Given the description of an element on the screen output the (x, y) to click on. 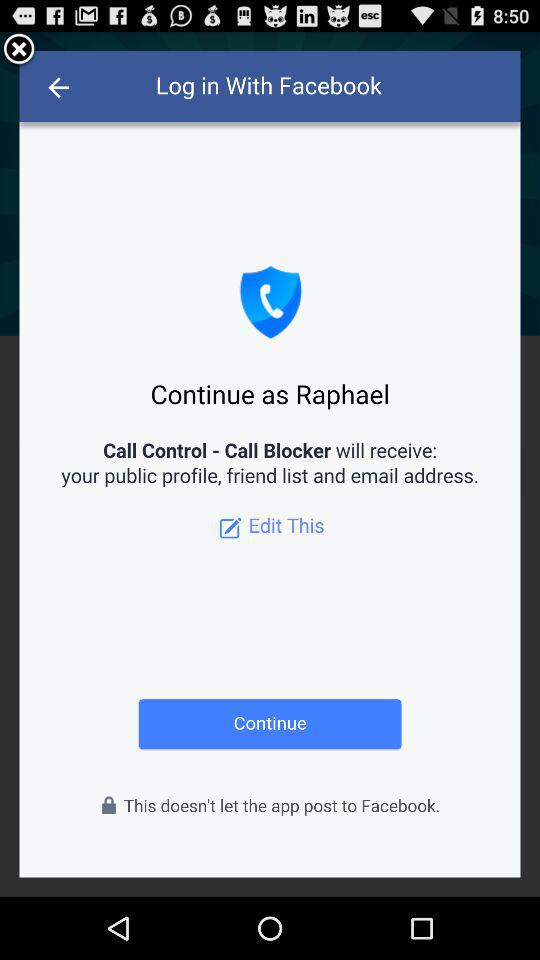
close (19, 50)
